Given the description of an element on the screen output the (x, y) to click on. 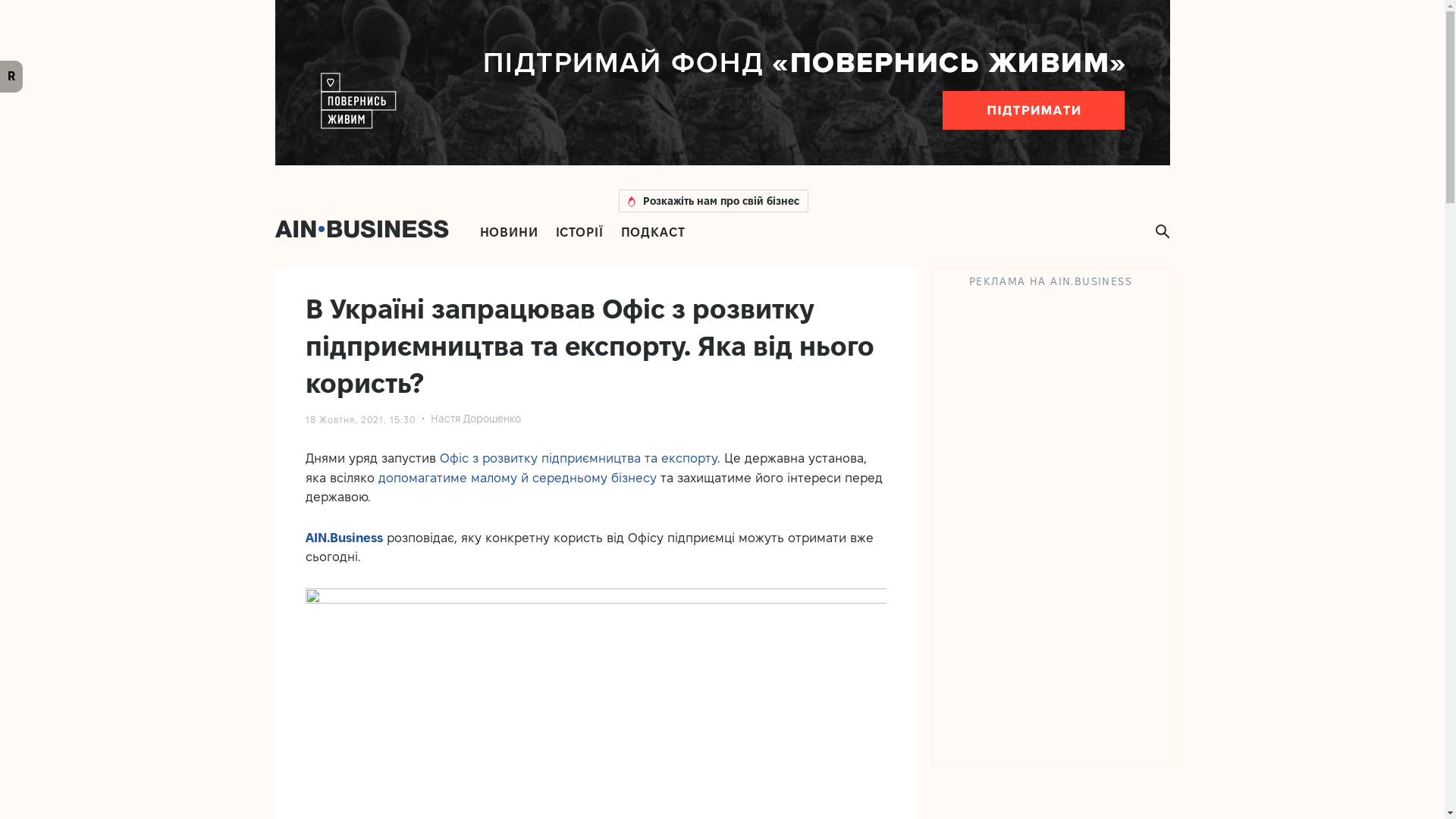
AIN.Business Element type: text (343, 537)
iframe Element type: hover (721, 91)
